Given the description of an element on the screen output the (x, y) to click on. 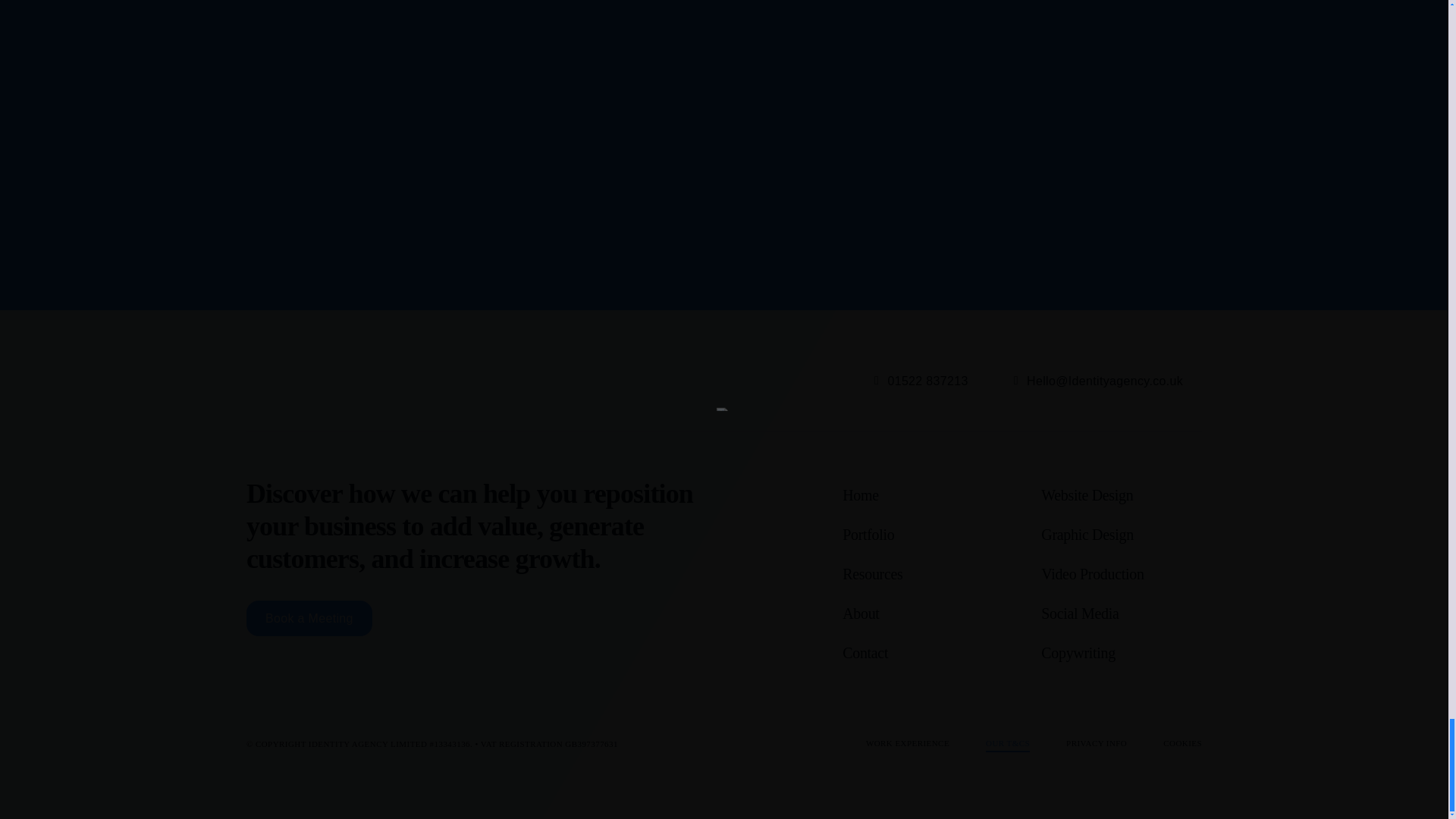
Resources (923, 574)
Home (923, 495)
Website Design (1121, 495)
Portfolio (923, 534)
Book a Meeting (309, 618)
About (923, 614)
Graphic Design (1121, 534)
Contact (923, 653)
01522 837213 (921, 380)
